Given the description of an element on the screen output the (x, y) to click on. 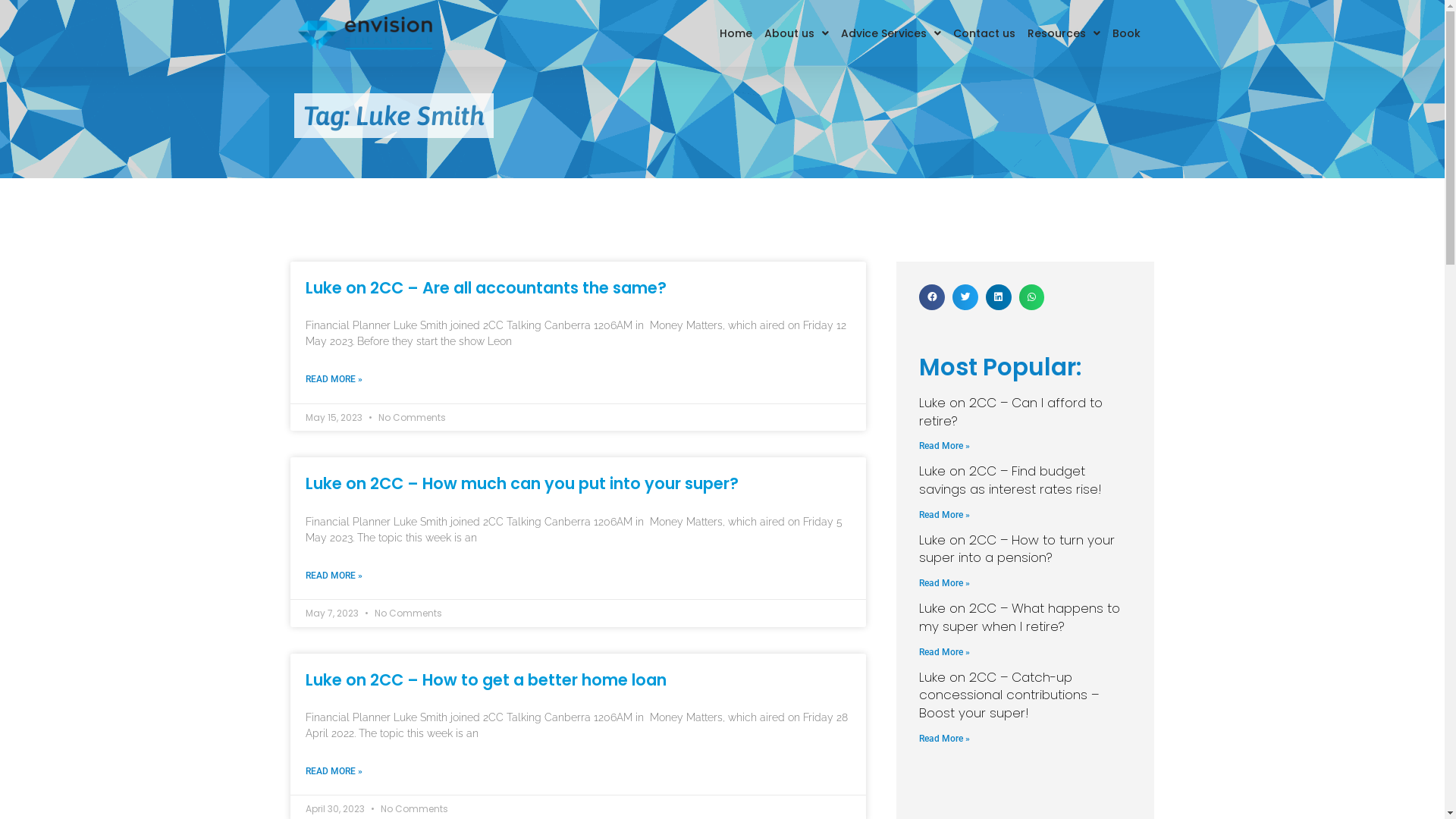
Book Element type: text (1126, 33)
Contact us Element type: text (984, 33)
Advice Services Element type: text (890, 33)
Home Element type: text (735, 33)
envision-logo-landscape Element type: hover (364, 33)
About us Element type: text (796, 33)
Resources Element type: text (1063, 33)
